Given the description of an element on the screen output the (x, y) to click on. 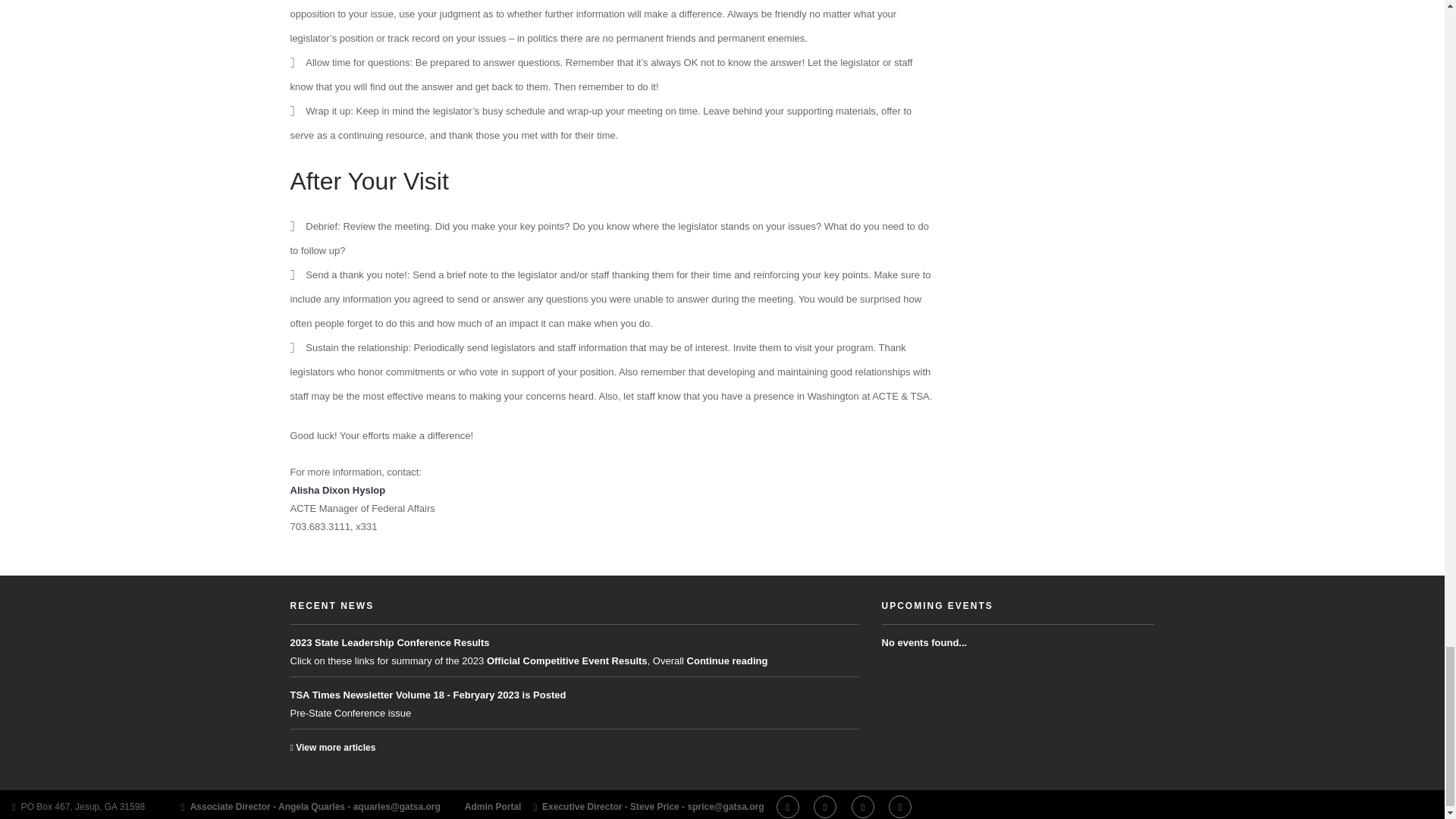
View event calendar! (936, 605)
View more news! (331, 605)
